Given the description of an element on the screen output the (x, y) to click on. 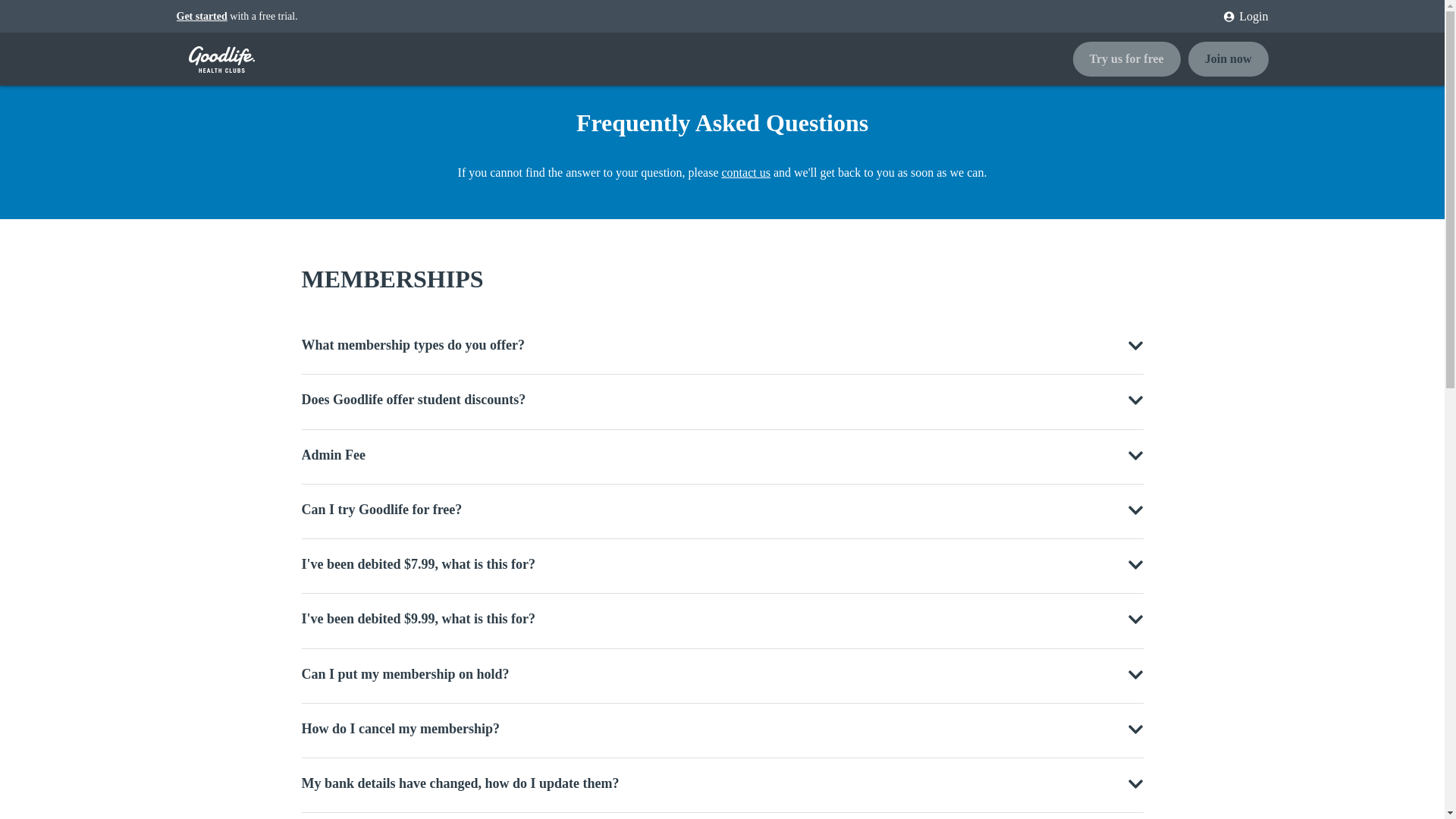
Try us for free (1129, 58)
Get started (201, 16)
contact us (746, 172)
Join now (1228, 58)
Login (1240, 16)
Join now (1228, 58)
Try us for free (1125, 58)
